Given the description of an element on the screen output the (x, y) to click on. 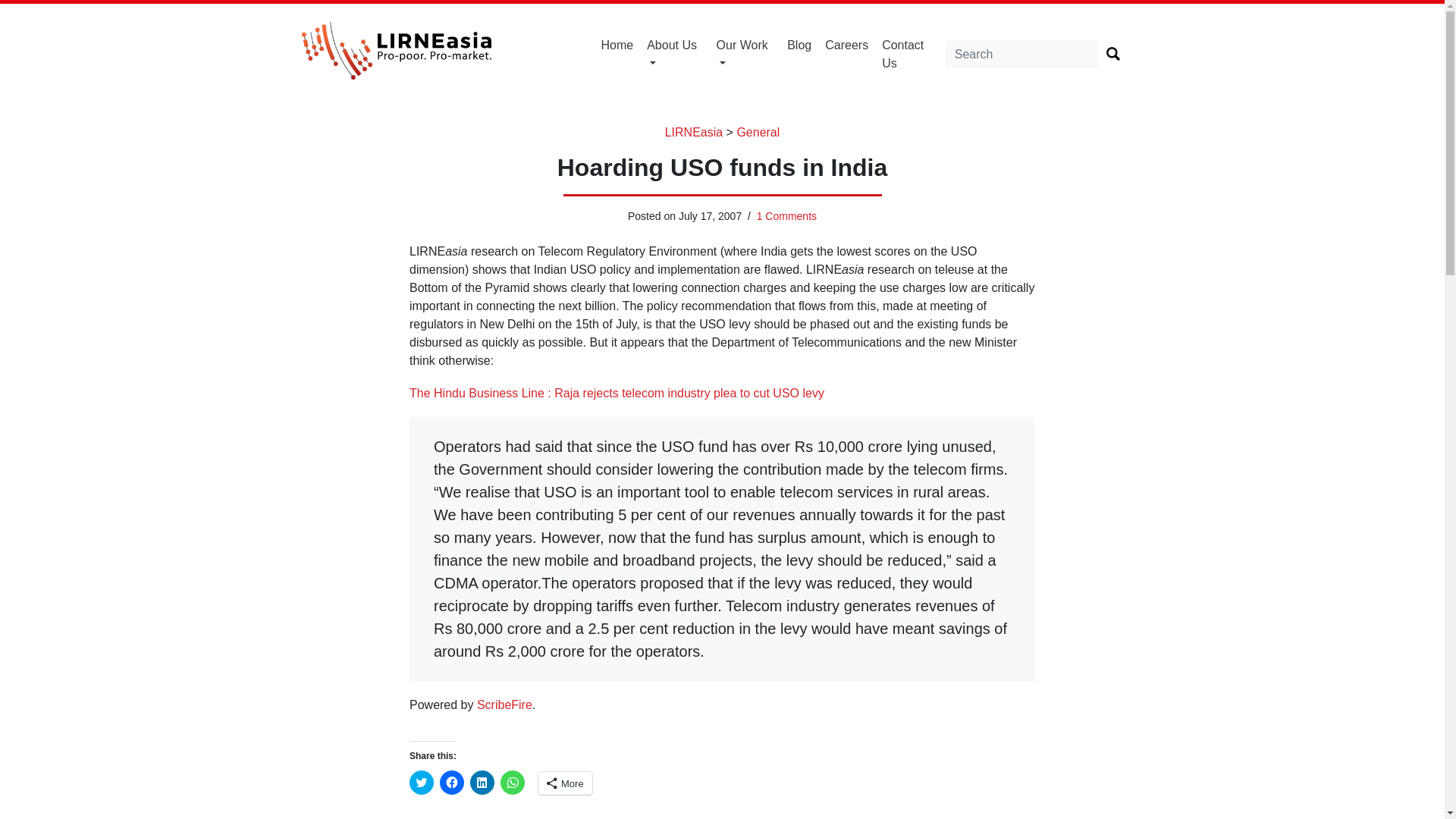
About Us (674, 54)
Home (617, 45)
Blog (799, 45)
Careers (846, 45)
Blog (799, 45)
Contact us (909, 54)
General (757, 132)
Home (617, 45)
Our Work (745, 54)
Careers (846, 45)
1 Comments (786, 215)
Our Work (745, 54)
Contact Us (909, 54)
Search for: (1021, 53)
LIRNEasia (693, 132)
